Given the description of an element on the screen output the (x, y) to click on. 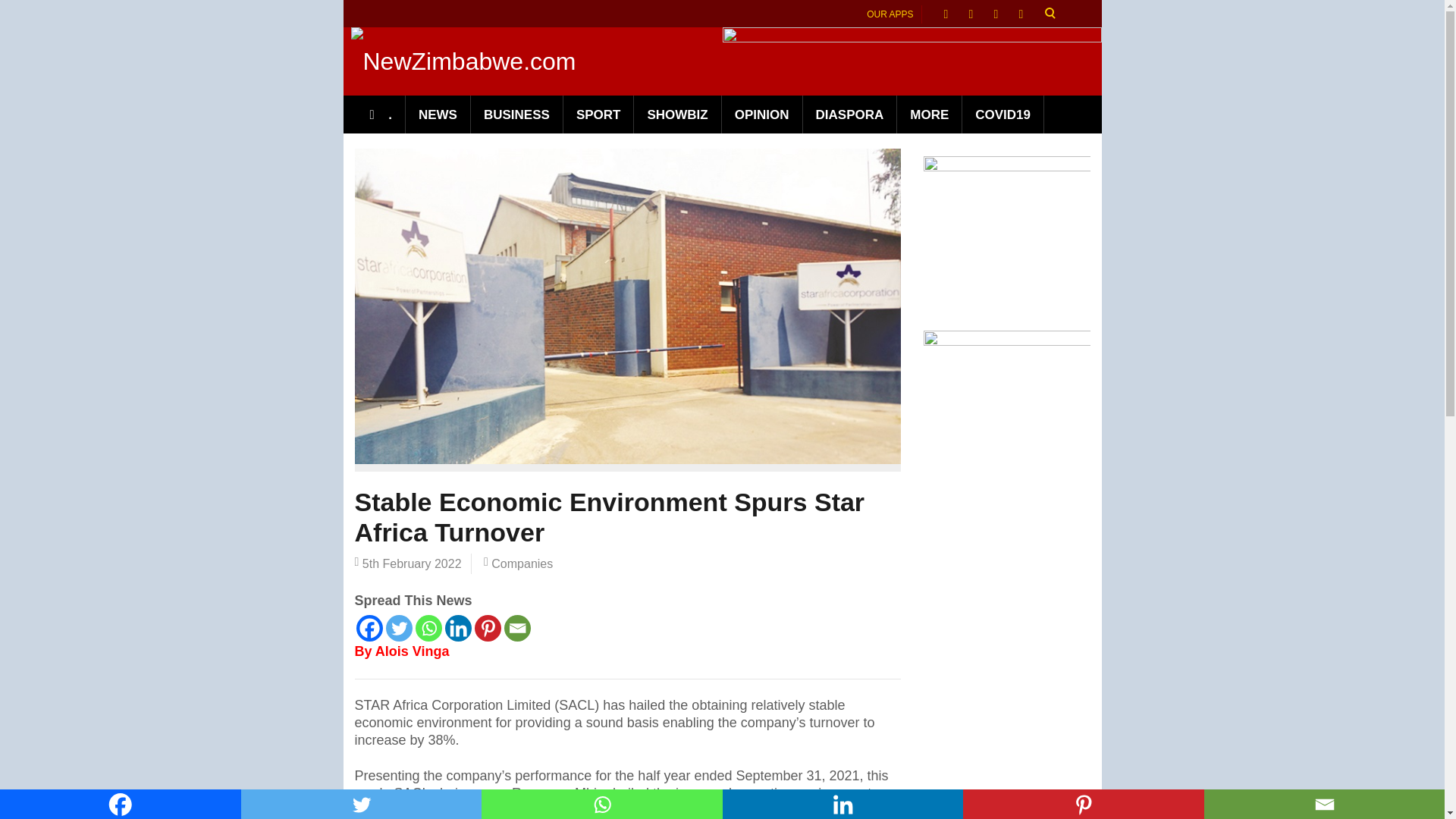
Twitter (398, 628)
Email (516, 628)
Pinterest (487, 628)
BUSINESS (516, 114)
NEWS (438, 114)
OPINION (762, 114)
Whatsapp (428, 628)
OUR APPS (890, 13)
DIASPORA (850, 114)
Facebook (369, 628)
Facebook (120, 804)
Linkedin (842, 804)
 . (380, 114)
Whatsapp (601, 804)
Pinterest (1083, 804)
